Given the description of an element on the screen output the (x, y) to click on. 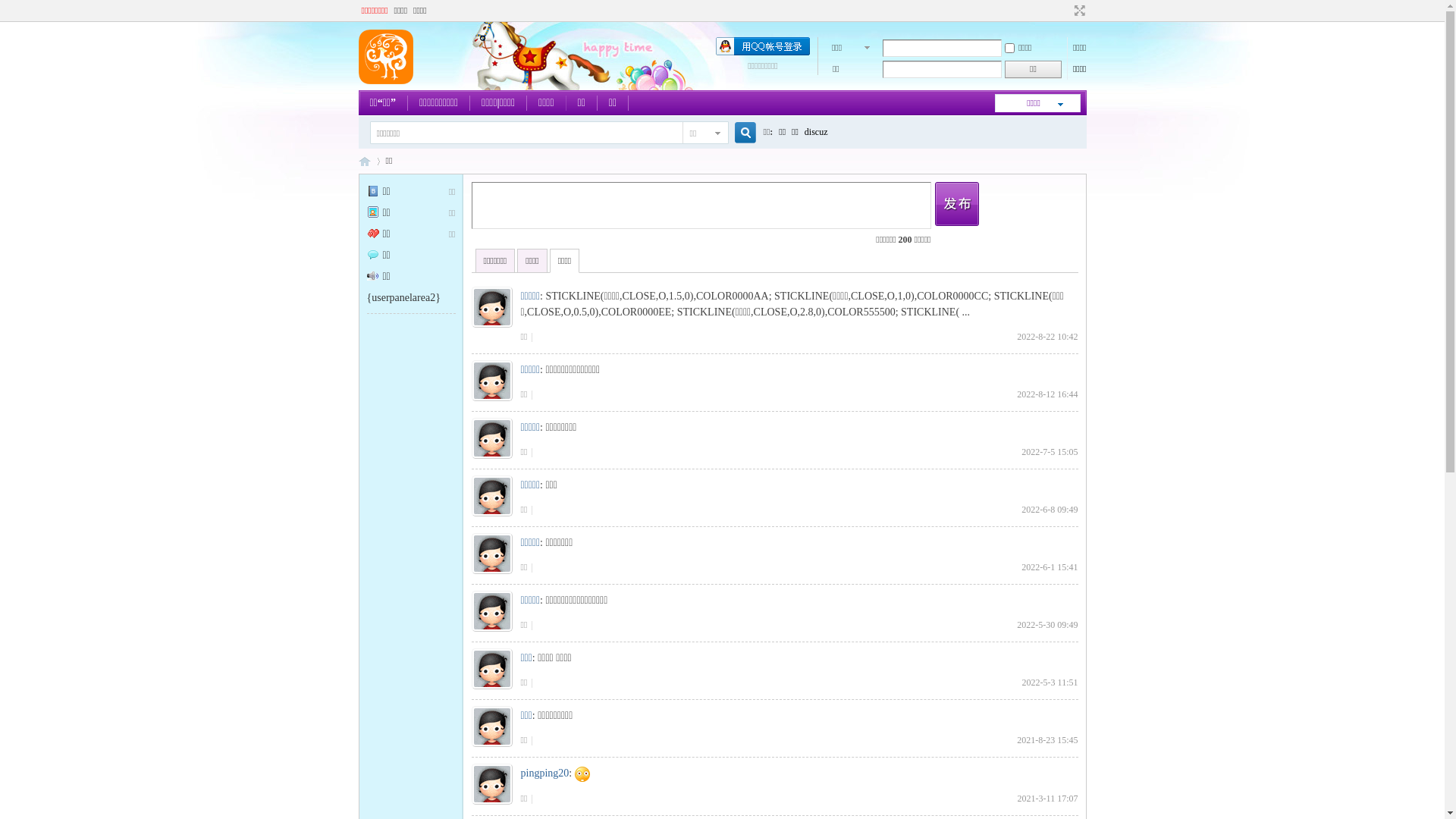
pingping20 Element type: text (544, 772)
discuz Element type: text (816, 131)
true Element type: text (738, 132)
